Given the description of an element on the screen output the (x, y) to click on. 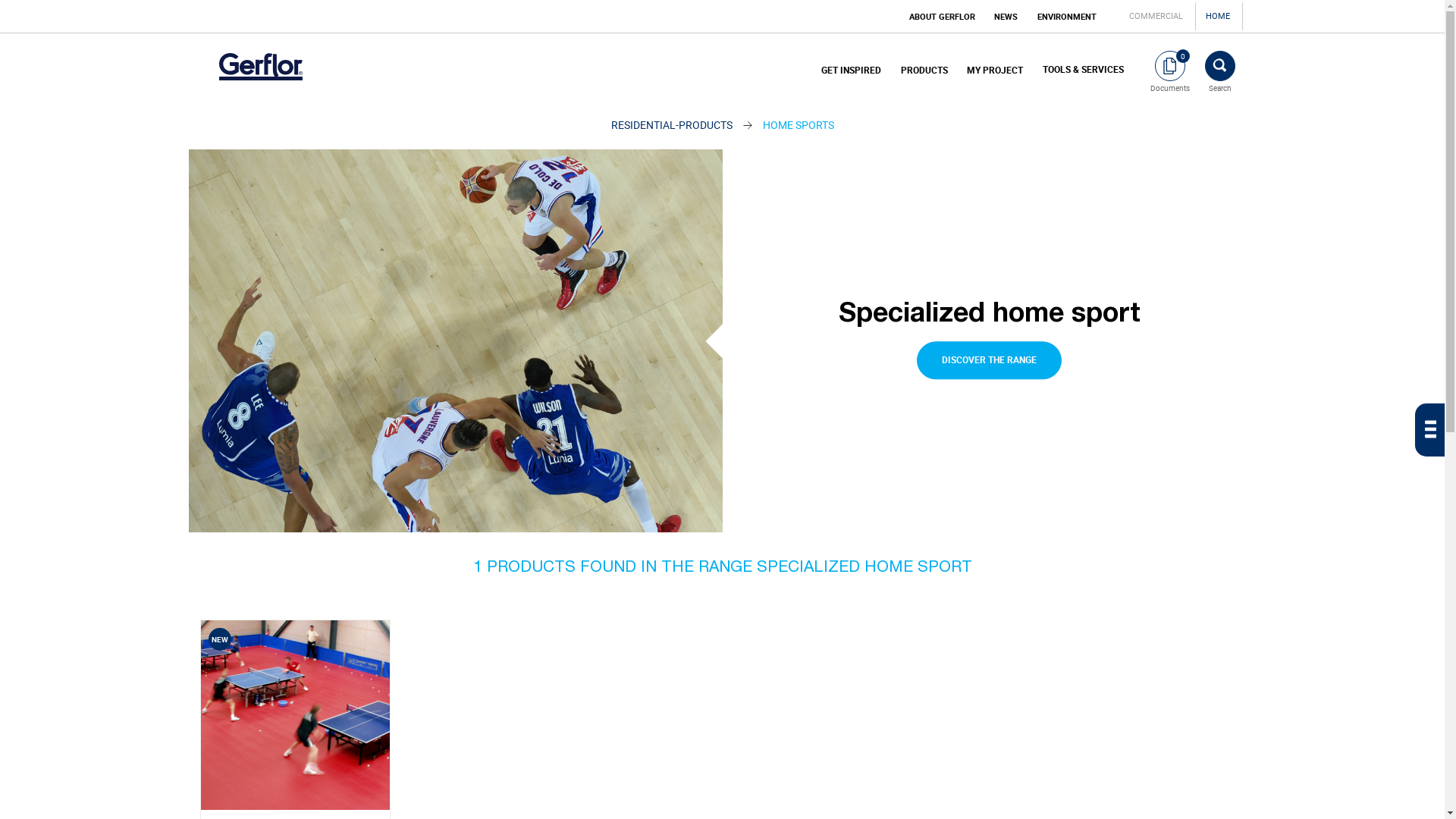
GET INSPIRED Element type: text (851, 70)
MY PROJECT Element type: text (994, 70)
ABOUT GERFLOR Element type: text (942, 16)
ENVIRONMENT Element type: text (1066, 16)
0
Documents Element type: text (1169, 71)
Search Element type: text (1220, 71)
DISCOVER THE RANGE Element type: text (988, 360)
NEWS Element type: text (1005, 16)
COMMERCIAL Element type: text (1154, 15)
RESIDENTIAL-PRODUCTS Element type: text (671, 124)
PRODUCTS Element type: text (923, 70)
HOME Element type: text (1217, 15)
